Given the description of an element on the screen output the (x, y) to click on. 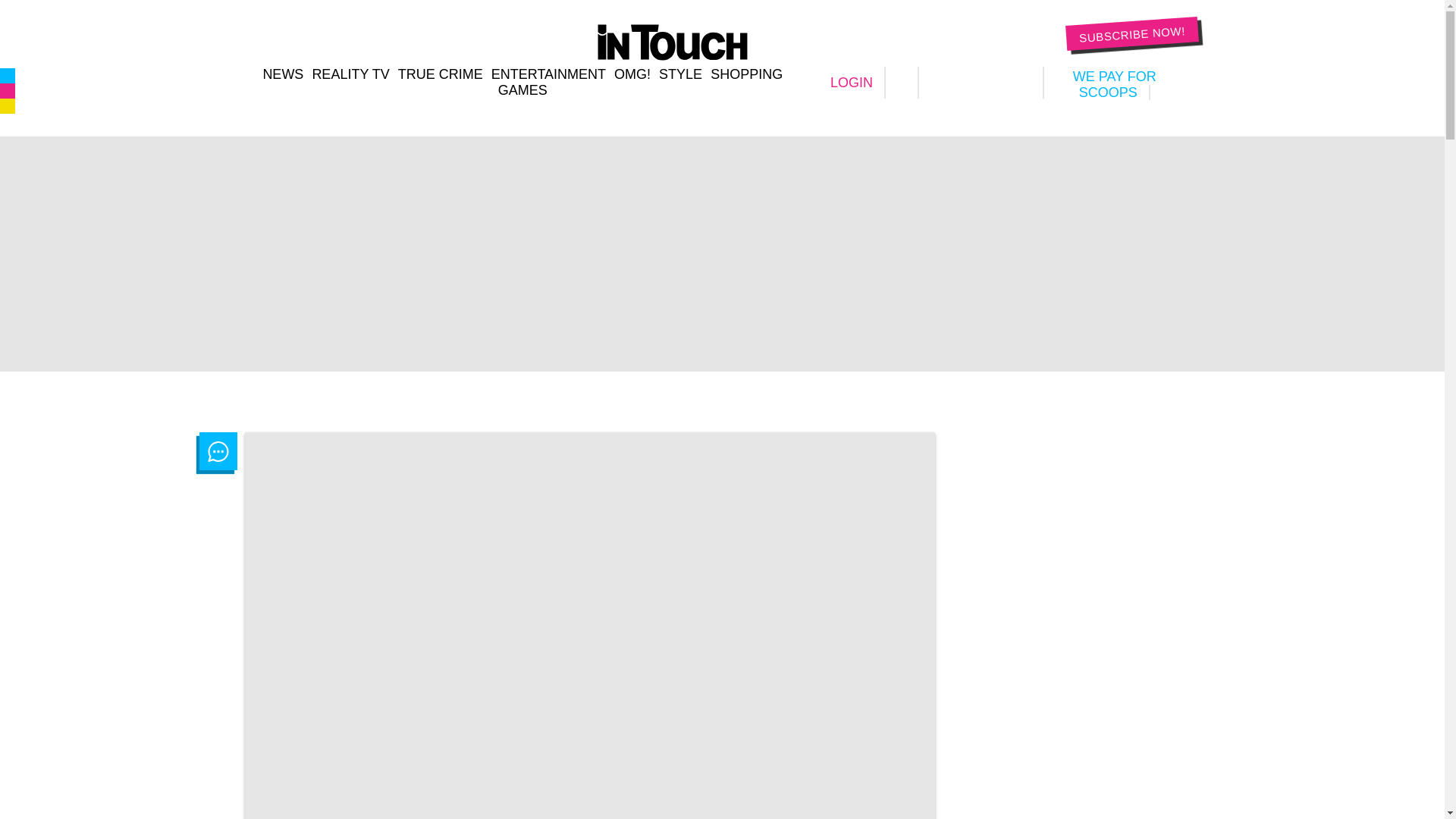
REALITY TV (349, 73)
NEWS (282, 73)
TRUE CRIME (440, 73)
